Given the description of an element on the screen output the (x, y) to click on. 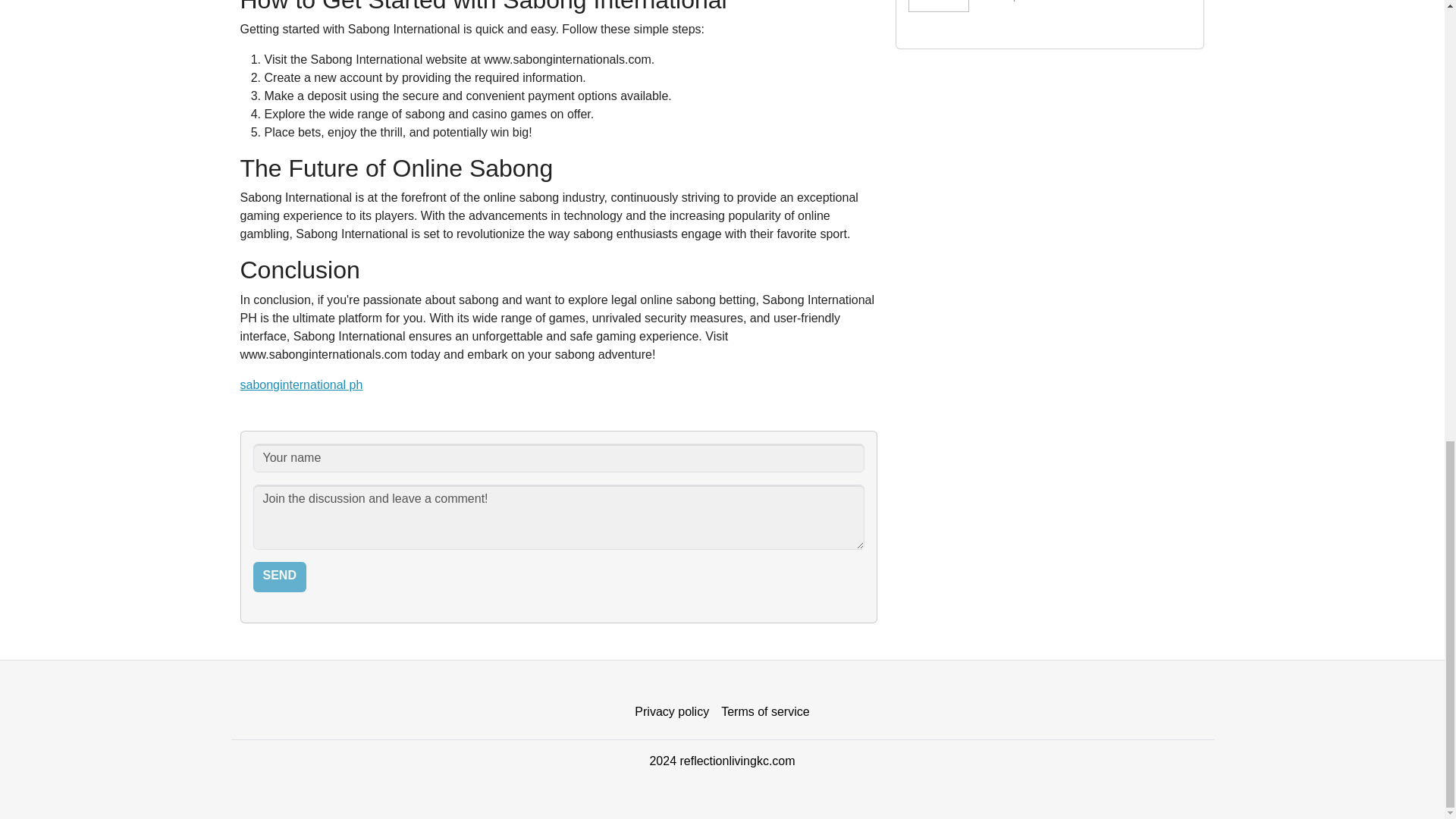
Privacy policy (671, 711)
Send (279, 576)
Terms of service (764, 711)
sabonginternational ph (301, 384)
Send (1050, 12)
